Given the description of an element on the screen output the (x, y) to click on. 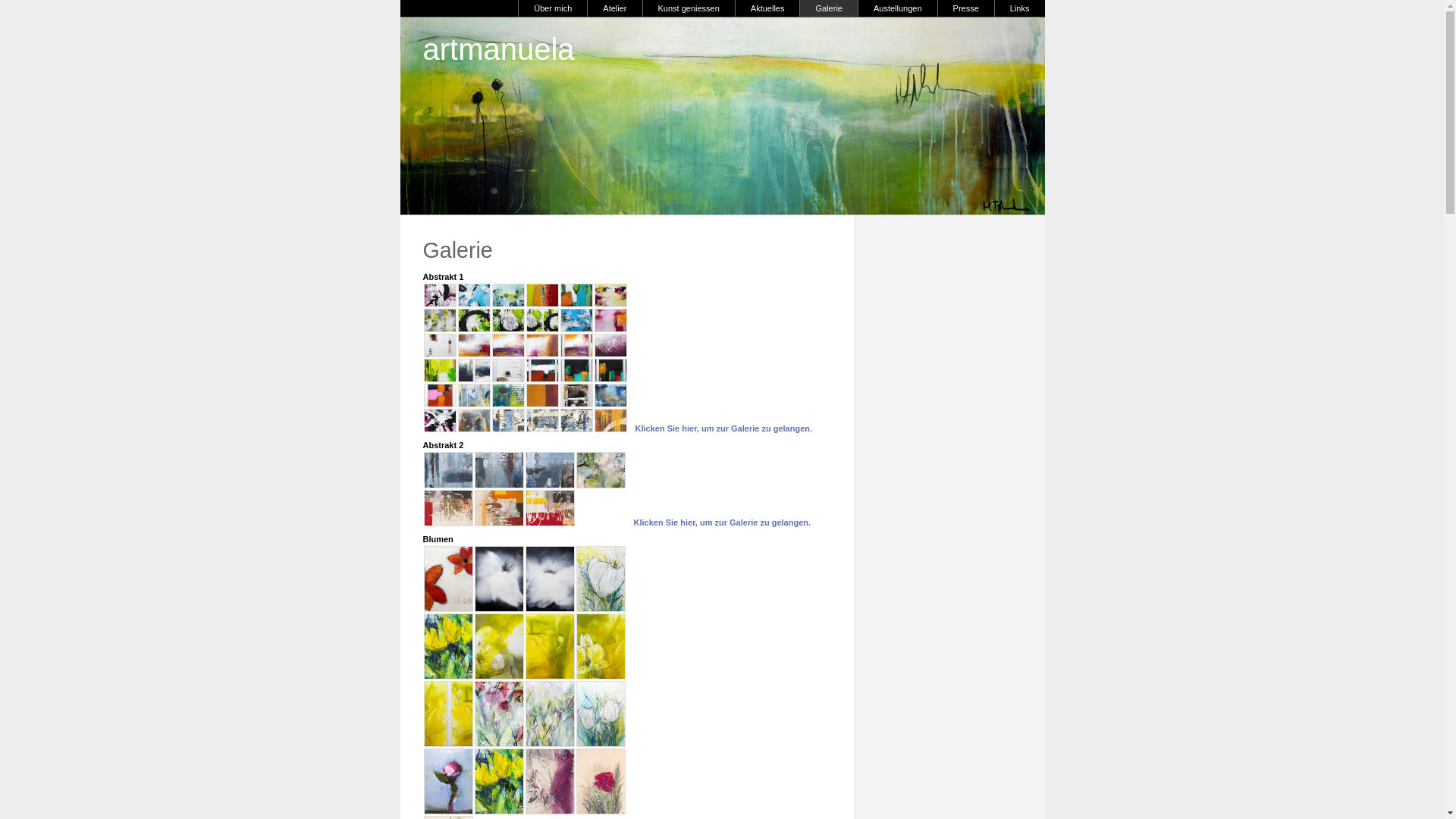
Galerie Element type: text (827, 8)
Austellungen Element type: text (897, 8)
Atelier Element type: text (613, 8)
Kunst geniessen Element type: text (687, 8)
Presse Element type: text (965, 8)
Klicken Sie hier, um zur Galerie zu gelangen. Element type: text (722, 522)
Aktuelles Element type: text (767, 8)
Klicken Sie hier, um zur Galerie zu gelangen. Element type: text (723, 428)
Links Element type: text (1019, 8)
